Given the description of an element on the screen output the (x, y) to click on. 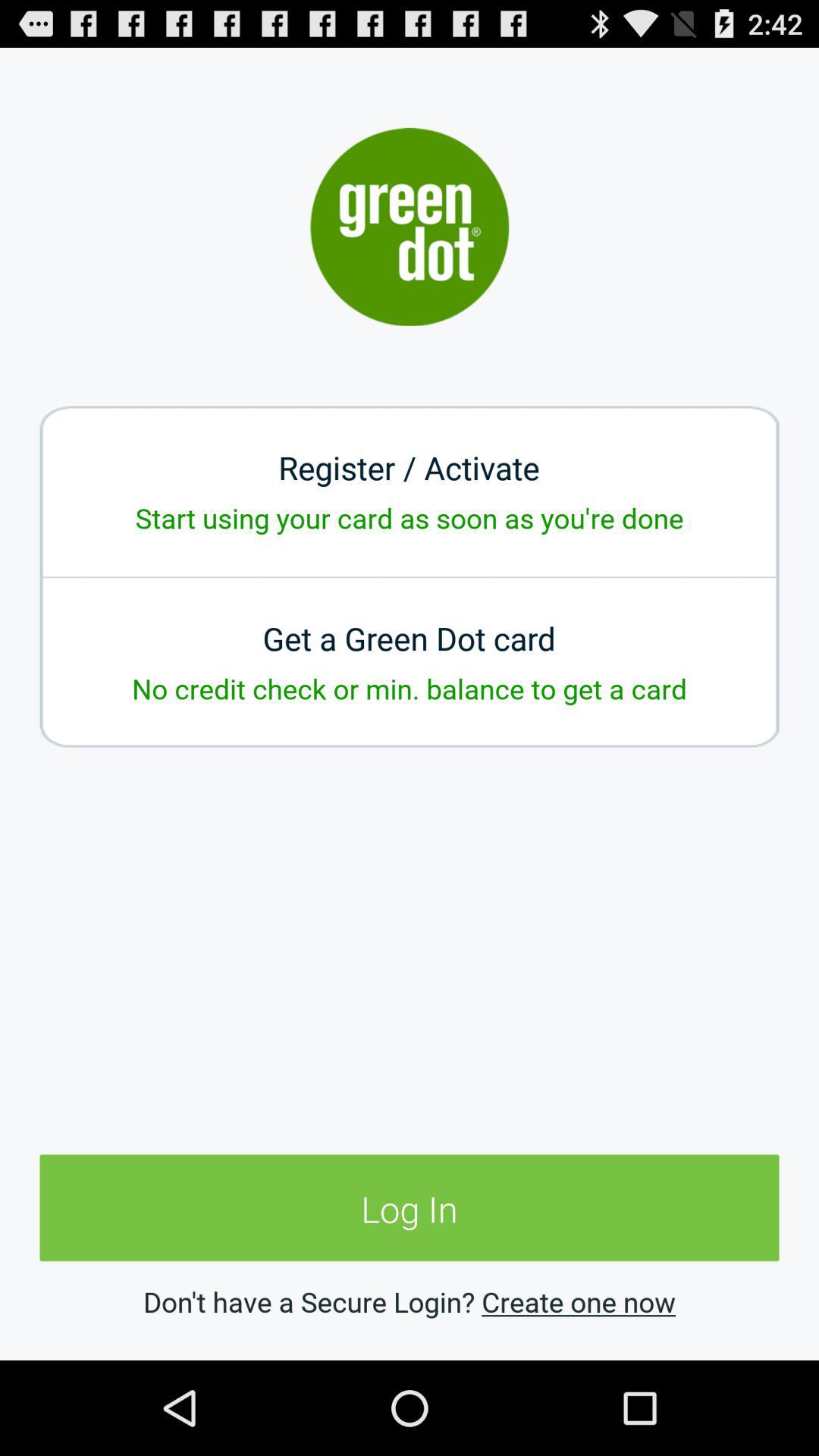
choose the item next to don t have app (578, 1301)
